Given the description of an element on the screen output the (x, y) to click on. 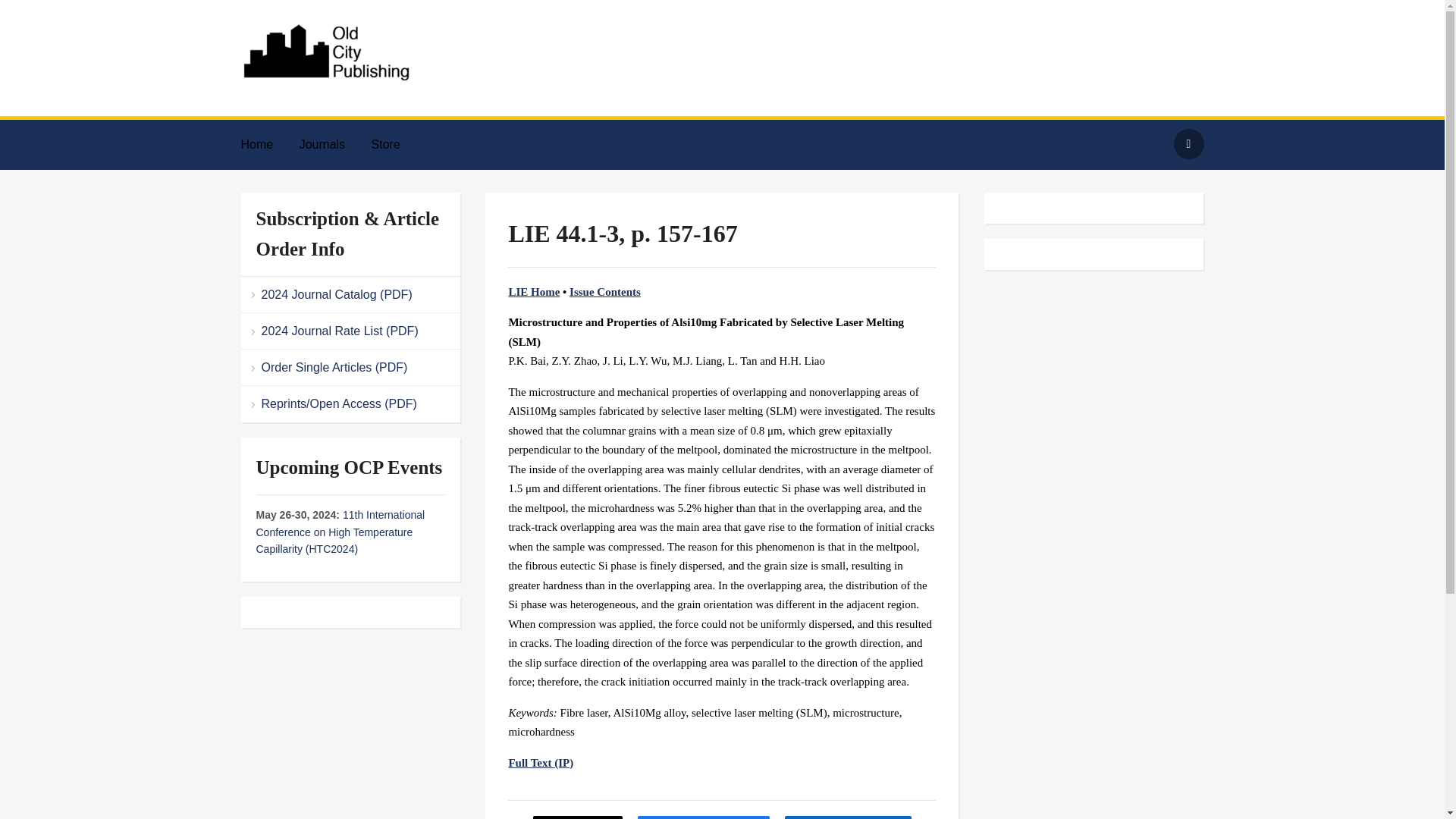
Share on LinkedIn (847, 817)
Share this on Facebook (703, 817)
Issue Contents (604, 291)
Search (1188, 143)
Share on Facebook (703, 817)
Store (397, 144)
Share this on X (577, 817)
LIE Home (533, 291)
Share on LinkedIn (847, 817)
Share on X (577, 817)
Journals (333, 144)
Home (269, 144)
